Given the description of an element on the screen output the (x, y) to click on. 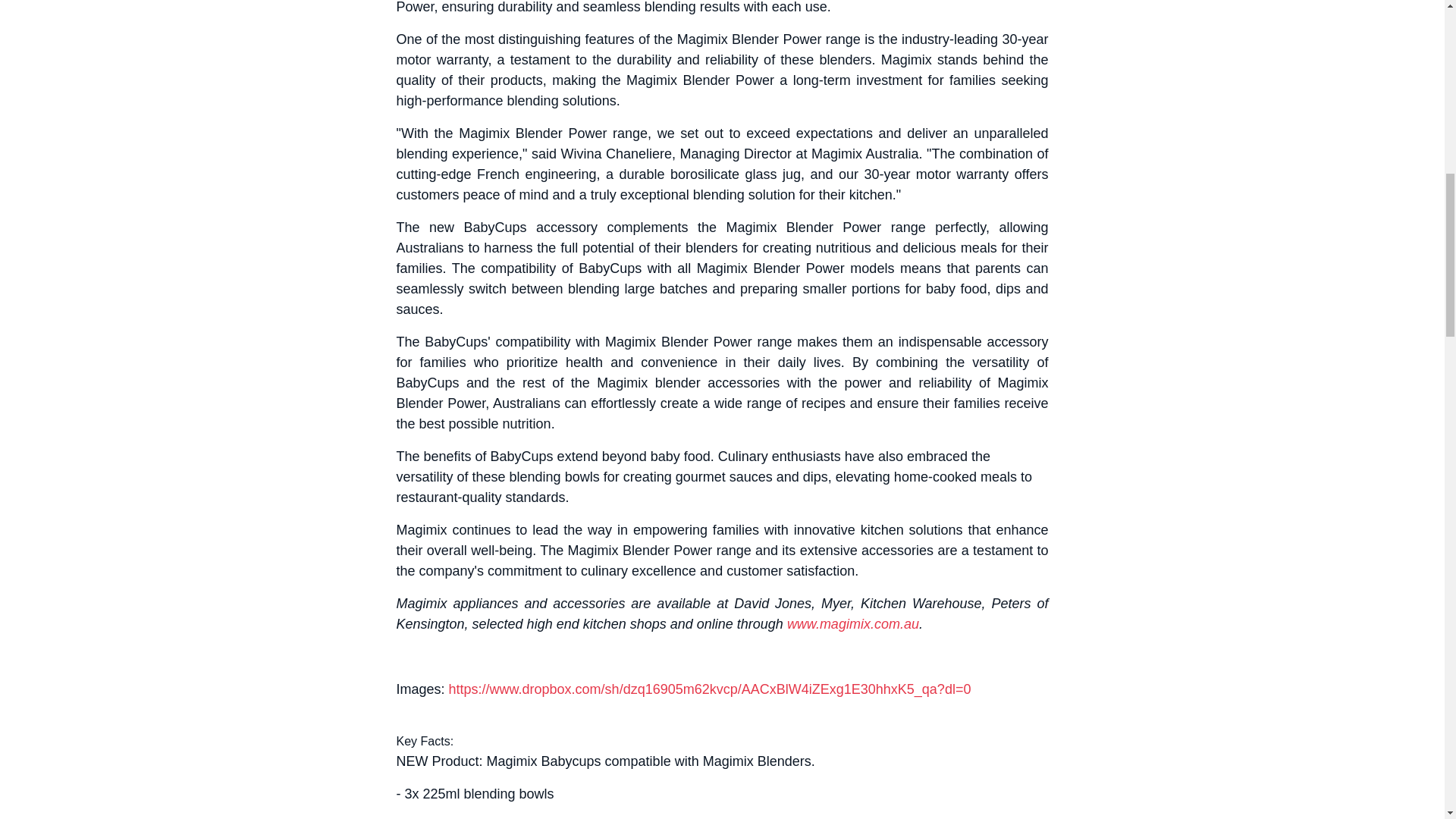
www.magimix.com.au (852, 623)
